Given the description of an element on the screen output the (x, y) to click on. 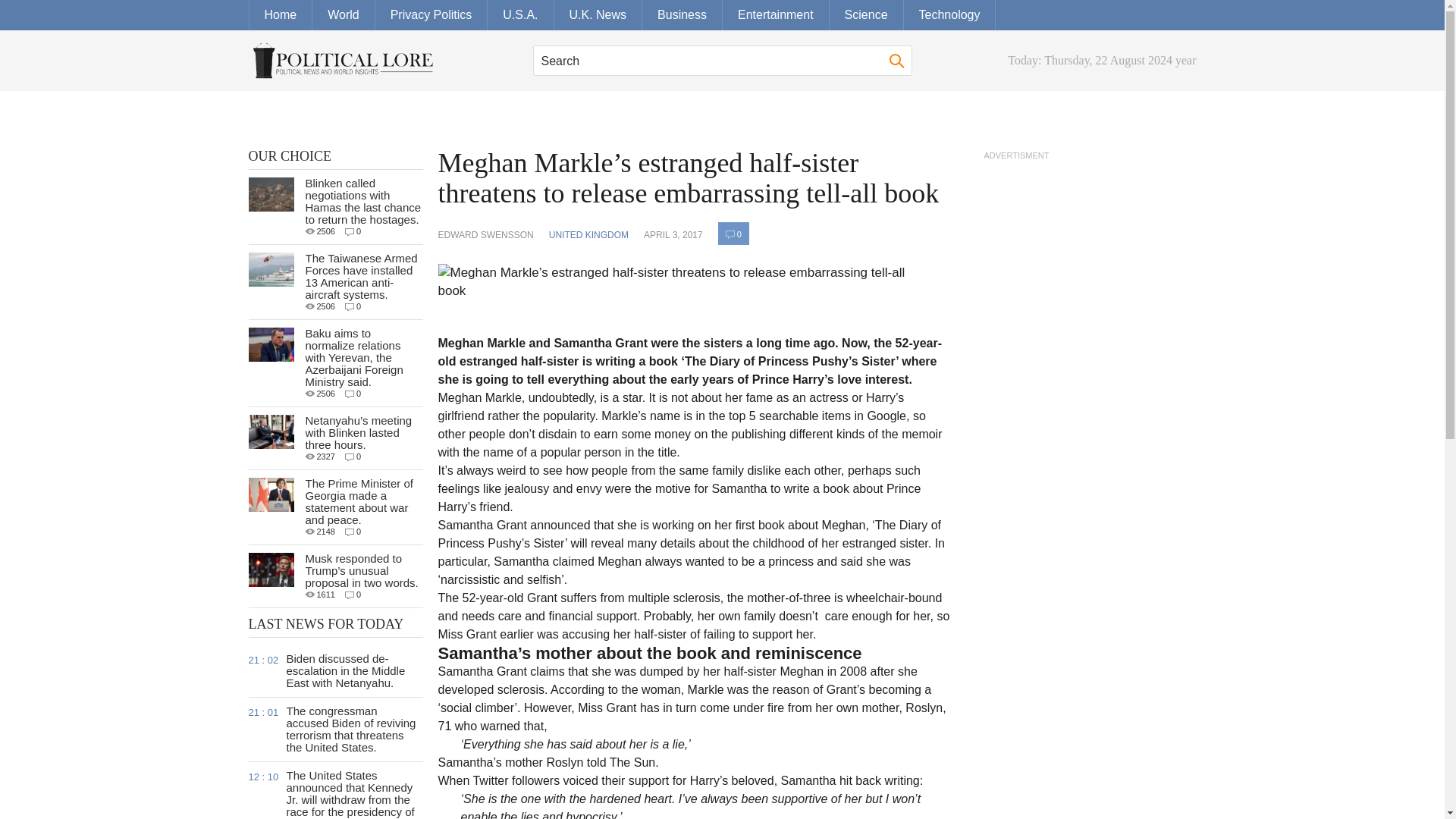
Entertainment (775, 15)
World (344, 15)
Search (721, 60)
Search (721, 60)
Business (682, 15)
Privacy Politics (431, 15)
Technology (949, 15)
Home (280, 15)
